Given the description of an element on the screen output the (x, y) to click on. 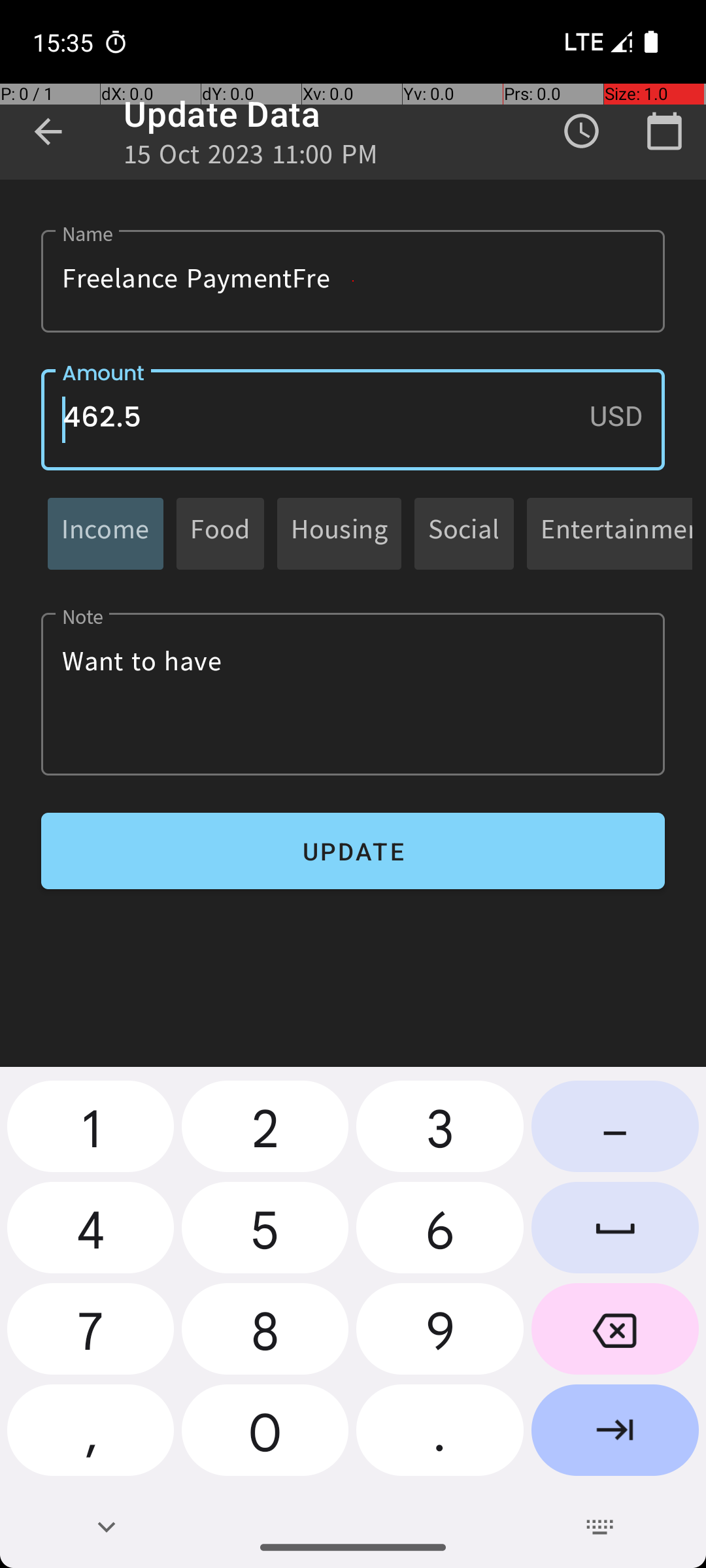
15 Oct 2023 11:00 PM Element type: android.widget.TextView (250, 157)
Freelance PaymentFre Element type: android.widget.EditText (352, 280)
462.5 Element type: android.widget.EditText (352, 419)
Want to have Element type: android.widget.EditText (352, 693)
